Given the description of an element on the screen output the (x, y) to click on. 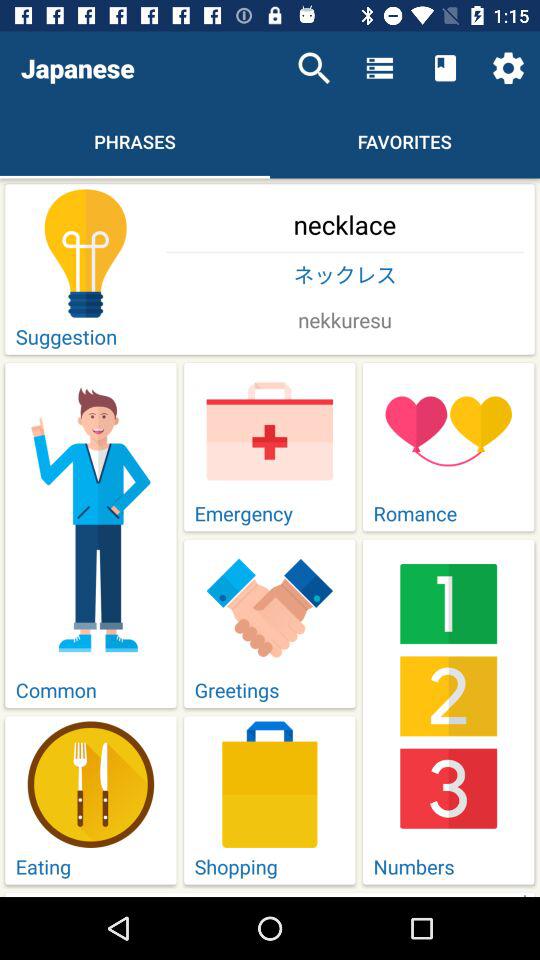
turn off the item next to japanese (313, 67)
